Given the description of an element on the screen output the (x, y) to click on. 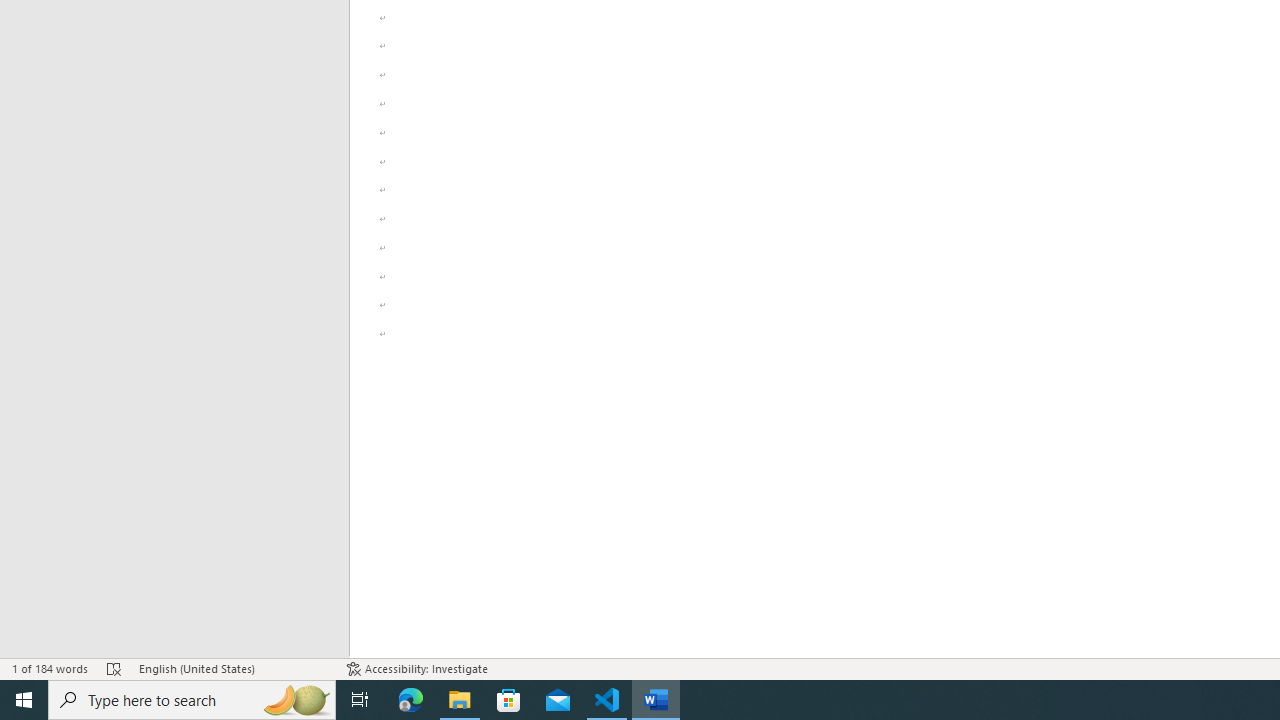
Spelling and Grammar Check Errors (114, 668)
Accessibility Checker Accessibility: Investigate (417, 668)
Language English (United States) (232, 668)
